Given the description of an element on the screen output the (x, y) to click on. 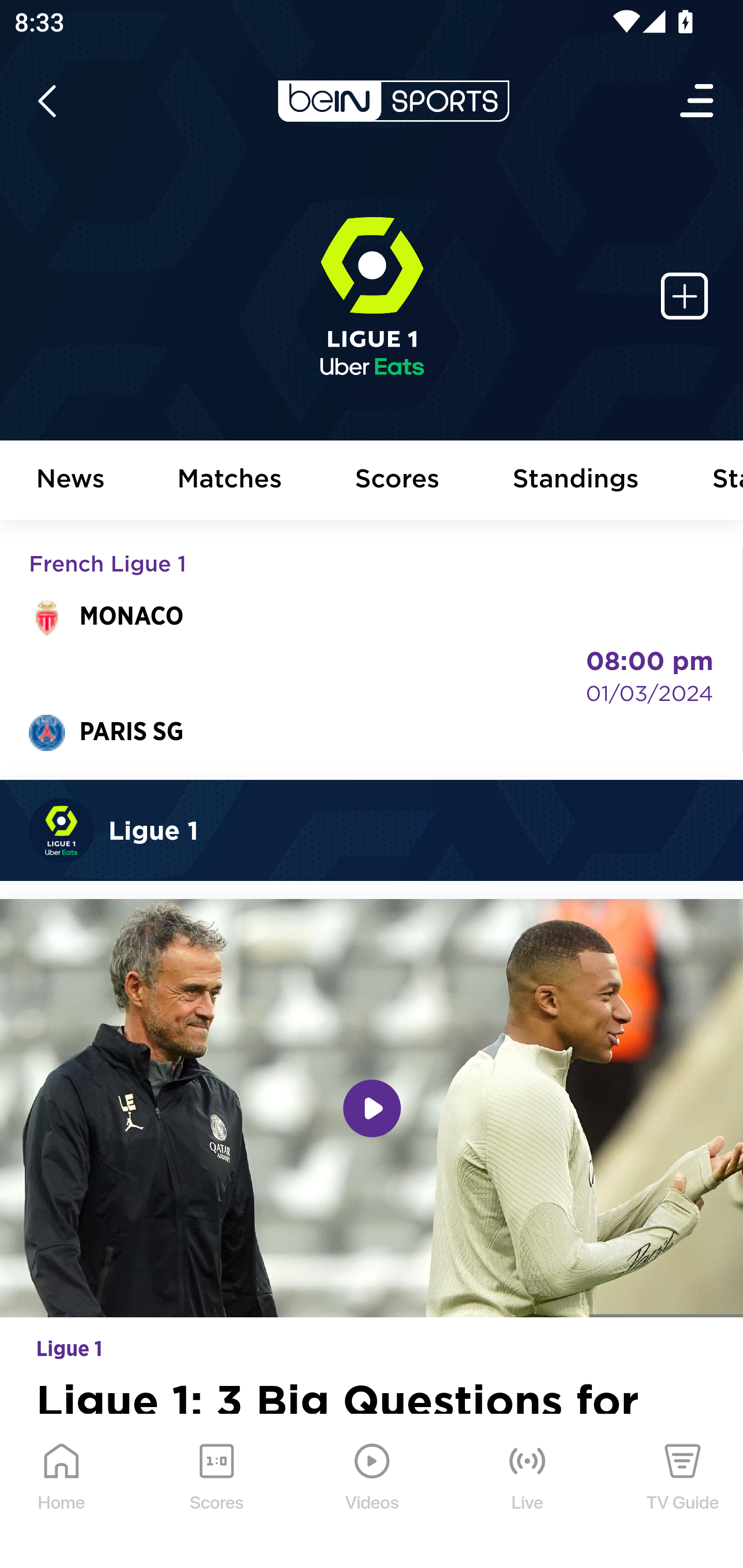
en-us?platform=mobile_android bein logo white (392, 101)
icon back (46, 101)
Open Menu Icon (697, 101)
News (70, 480)
Matches (229, 480)
Scores (397, 480)
Standings (575, 480)
Home Home Icon Home (61, 1491)
Scores Scores Icon Scores (216, 1491)
Videos Videos Icon Videos (372, 1491)
TV Guide TV Guide Icon TV Guide (682, 1491)
